Given the description of an element on the screen output the (x, y) to click on. 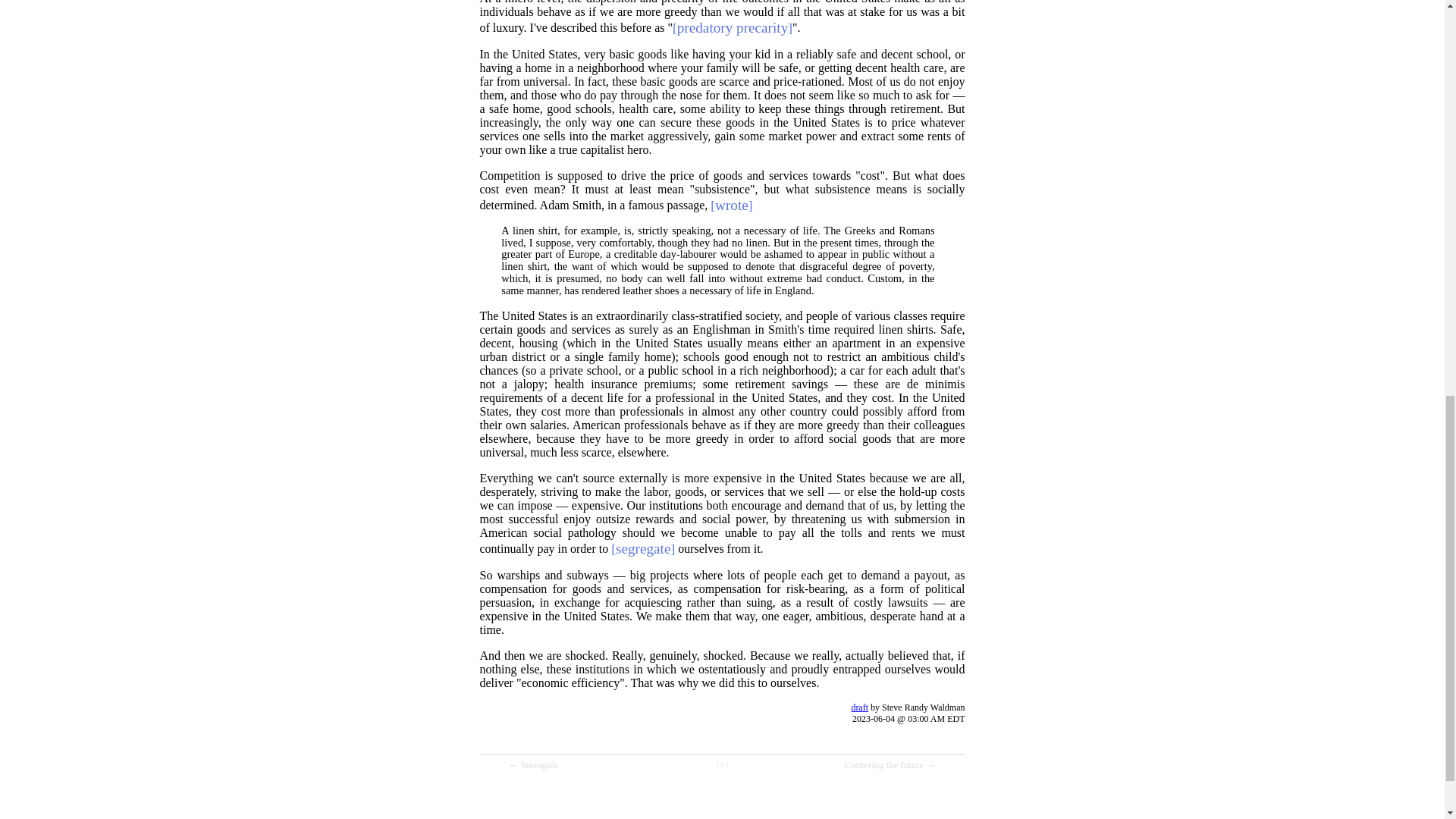
Smeagols (540, 765)
draft (858, 706)
segregate (643, 548)
predatory precarity (732, 27)
wrote (731, 204)
Cornering the future (883, 765)
